Given the description of an element on the screen output the (x, y) to click on. 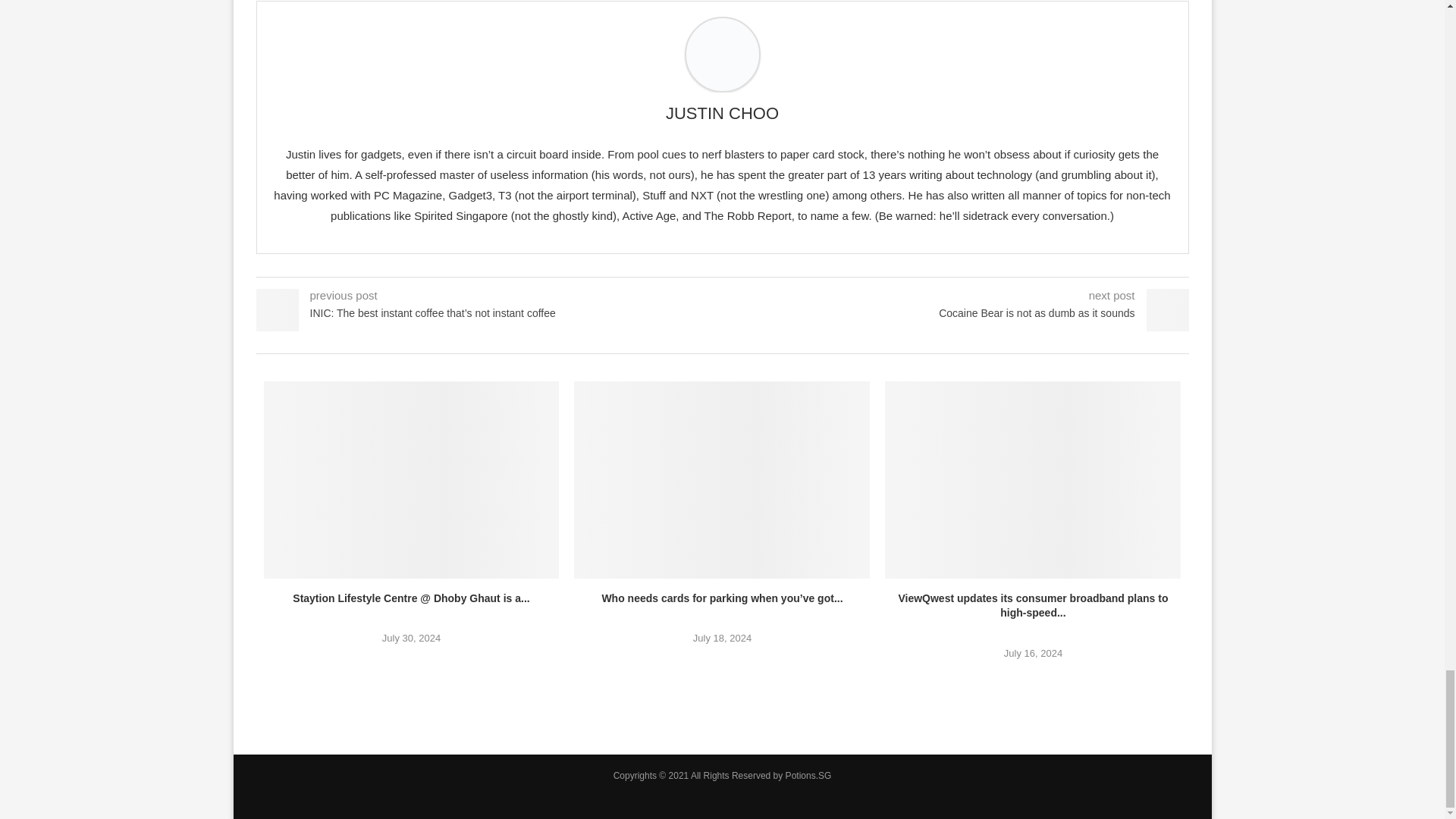
Cocaine Bear is not as dumb as it sounds (955, 313)
Author Justin Choo (721, 113)
JUSTIN CHOO (721, 113)
